Given the description of an element on the screen output the (x, y) to click on. 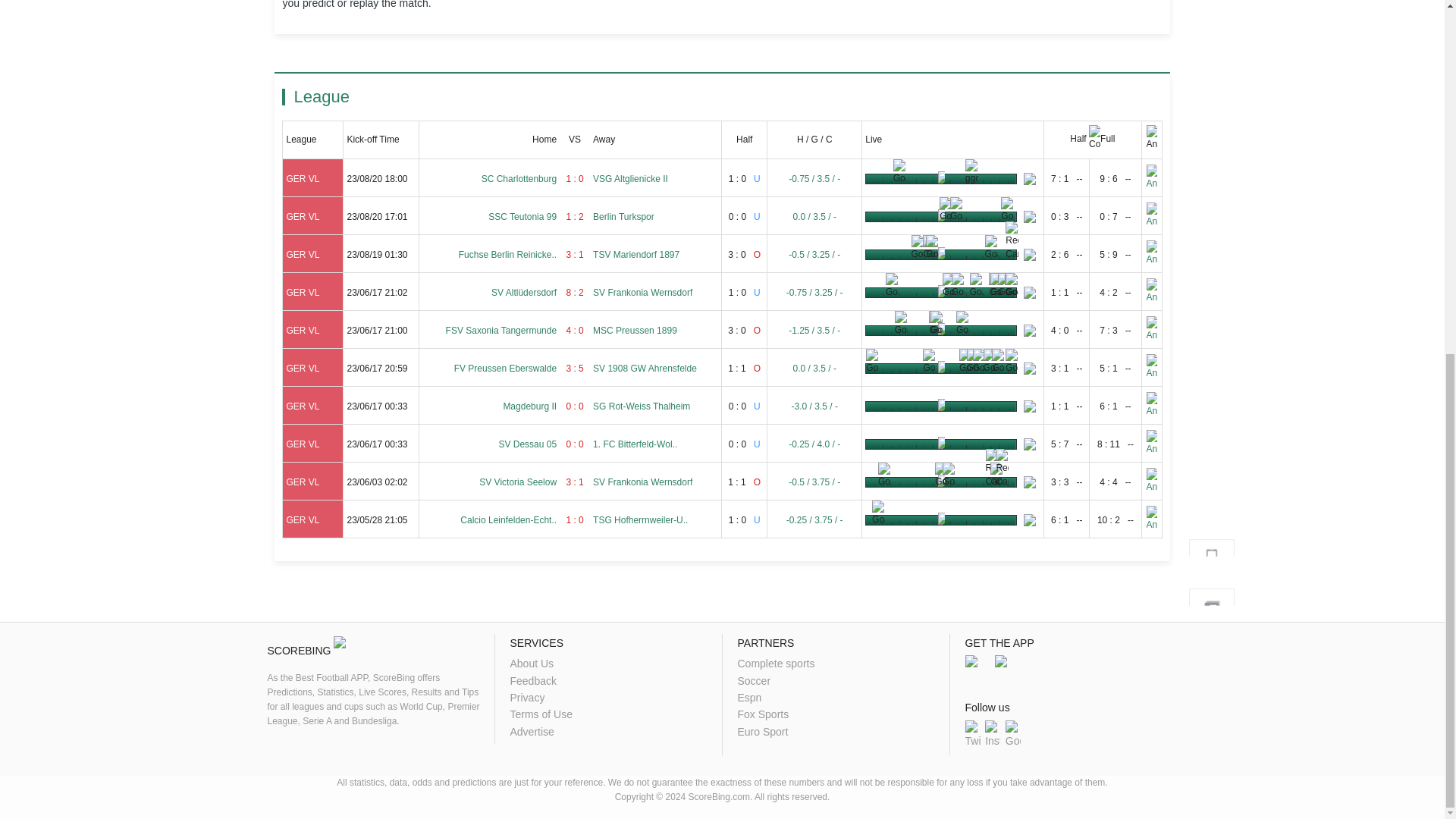
VSG Altglienicke II (630, 178)
SC Charlottenburg (518, 178)
GER VL (301, 178)
